Given the description of an element on the screen output the (x, y) to click on. 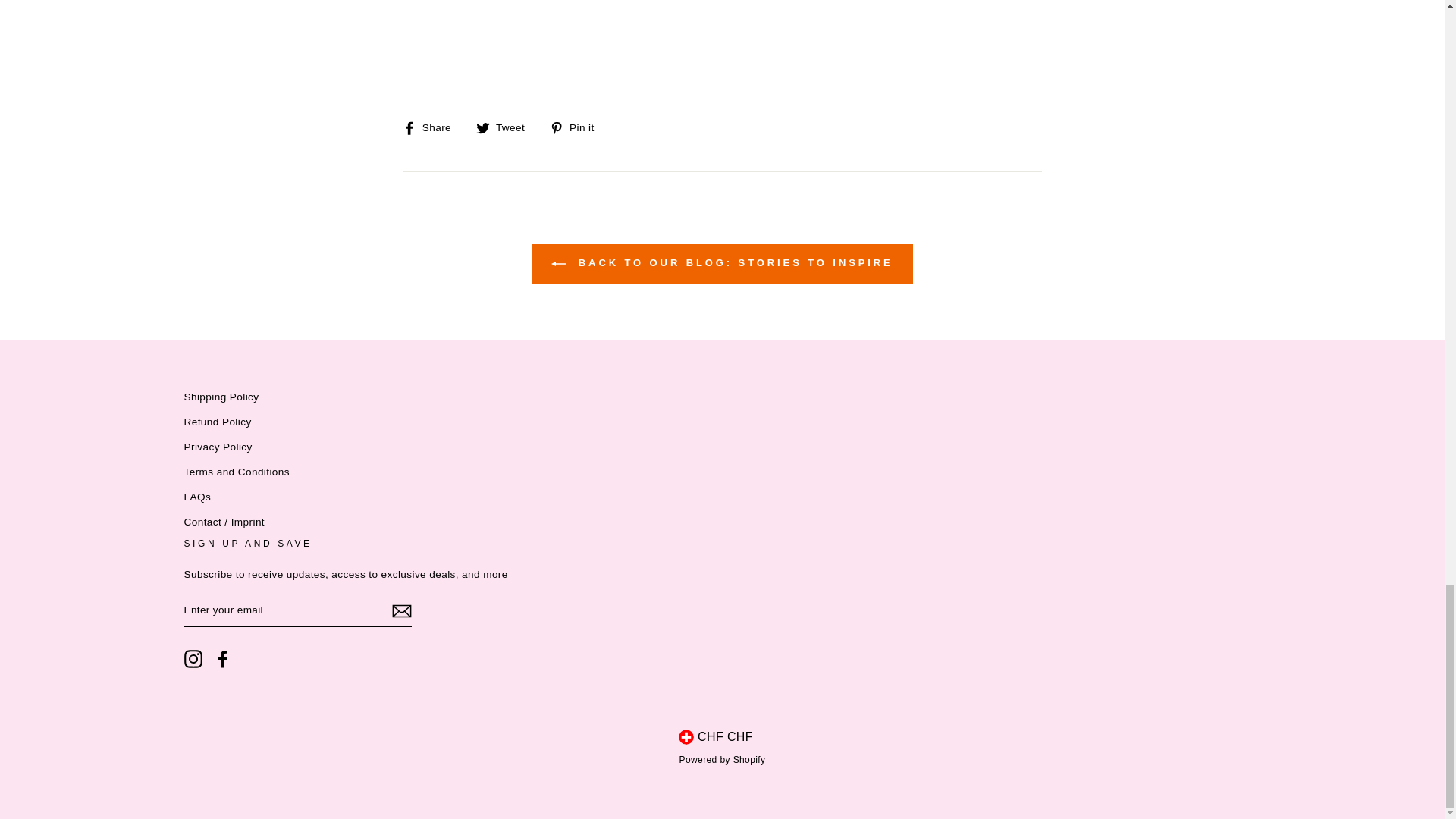
Helvetia and Sons on Instagram (192, 659)
Share on Facebook (433, 127)
Helvetia and Sons on Facebook (222, 659)
Tweet on Twitter (505, 127)
Pin on Pinterest (577, 127)
